Given the description of an element on the screen output the (x, y) to click on. 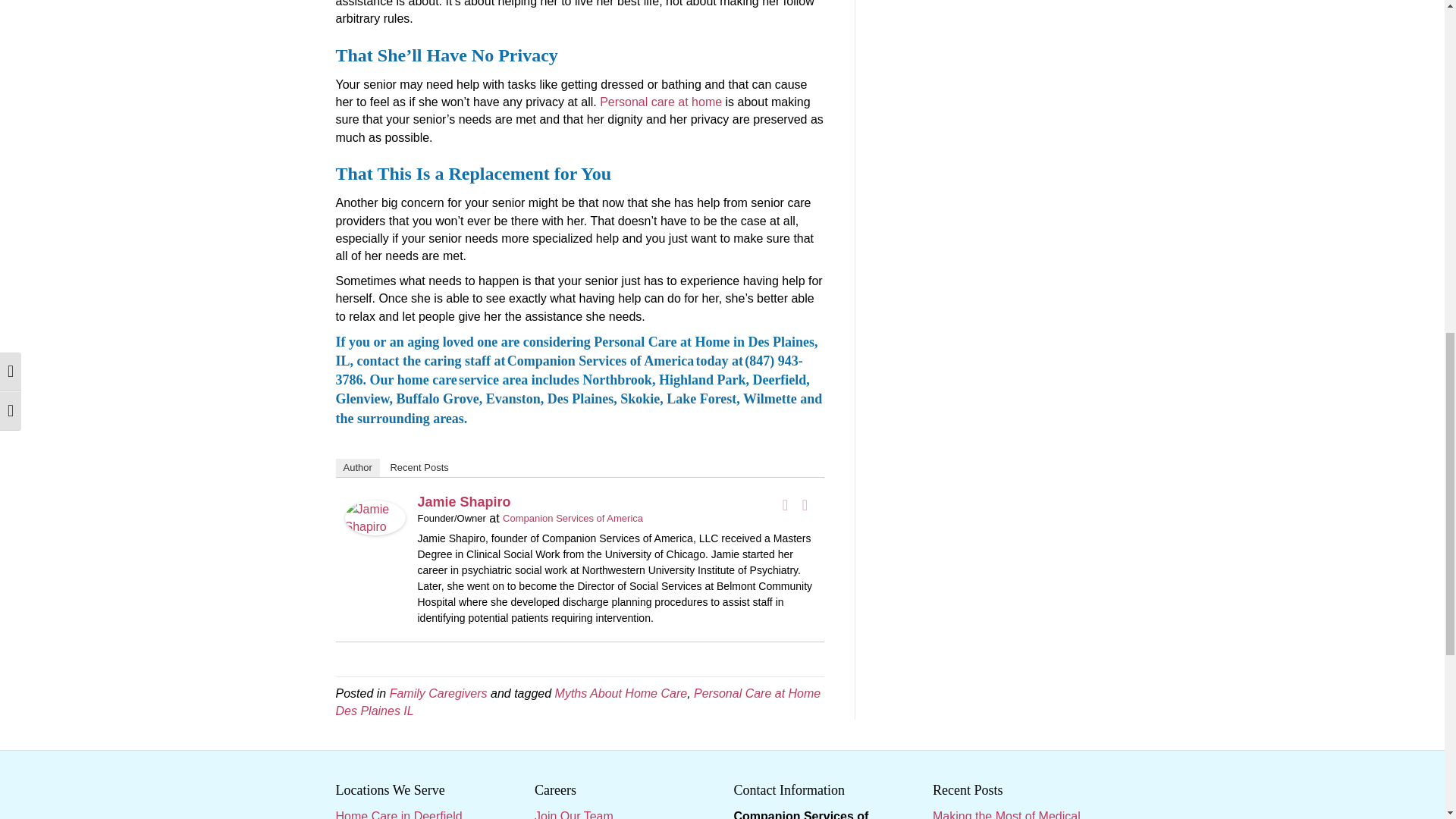
Personal care at home (660, 101)
Myths About Home Care (620, 693)
Author (356, 467)
Companion Services of America (572, 518)
Jamie Shapiro (463, 501)
Recent Posts (418, 467)
Personal Care at Home in Des Plaines (703, 341)
Jamie Shapiro (373, 516)
Facebook (785, 505)
Family Caregivers (438, 693)
Twitter (804, 505)
